Given the description of an element on the screen output the (x, y) to click on. 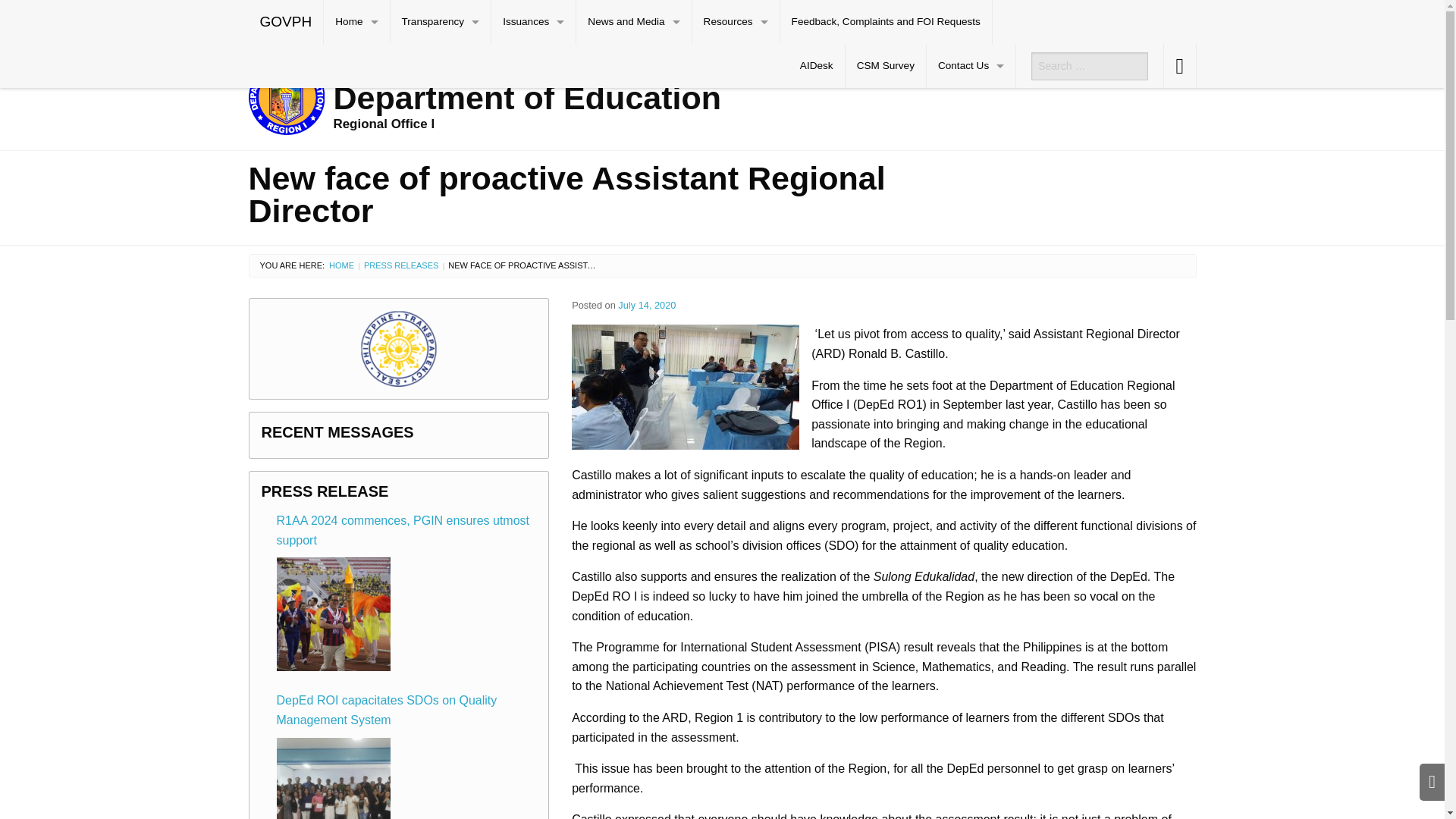
1:20 am (646, 305)
R1AA 2024 commences, PGIN ensures utmost support (333, 613)
DepEd ROI capacitates SDOs on Quality Management System (333, 778)
DepEd RO1 (600, 96)
Search for: (1089, 65)
